Given the description of an element on the screen output the (x, y) to click on. 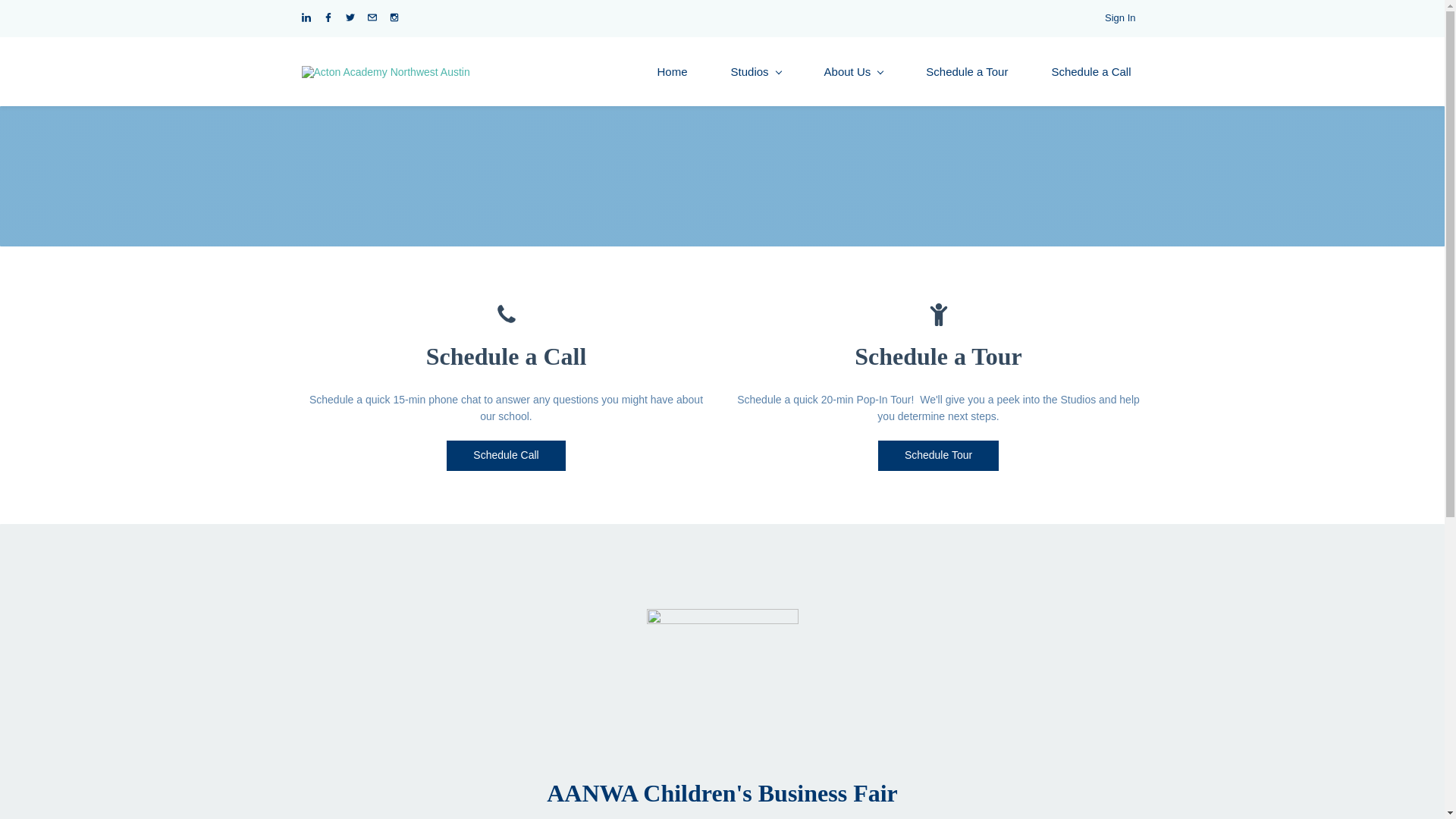
Schedule Call (505, 455)
Schedule Tour (937, 455)
Schedule a Call (1090, 71)
About Us (853, 71)
Home (672, 71)
Sign In (1120, 18)
Schedule a Tour (967, 71)
Studios (756, 71)
